Given the description of an element on the screen output the (x, y) to click on. 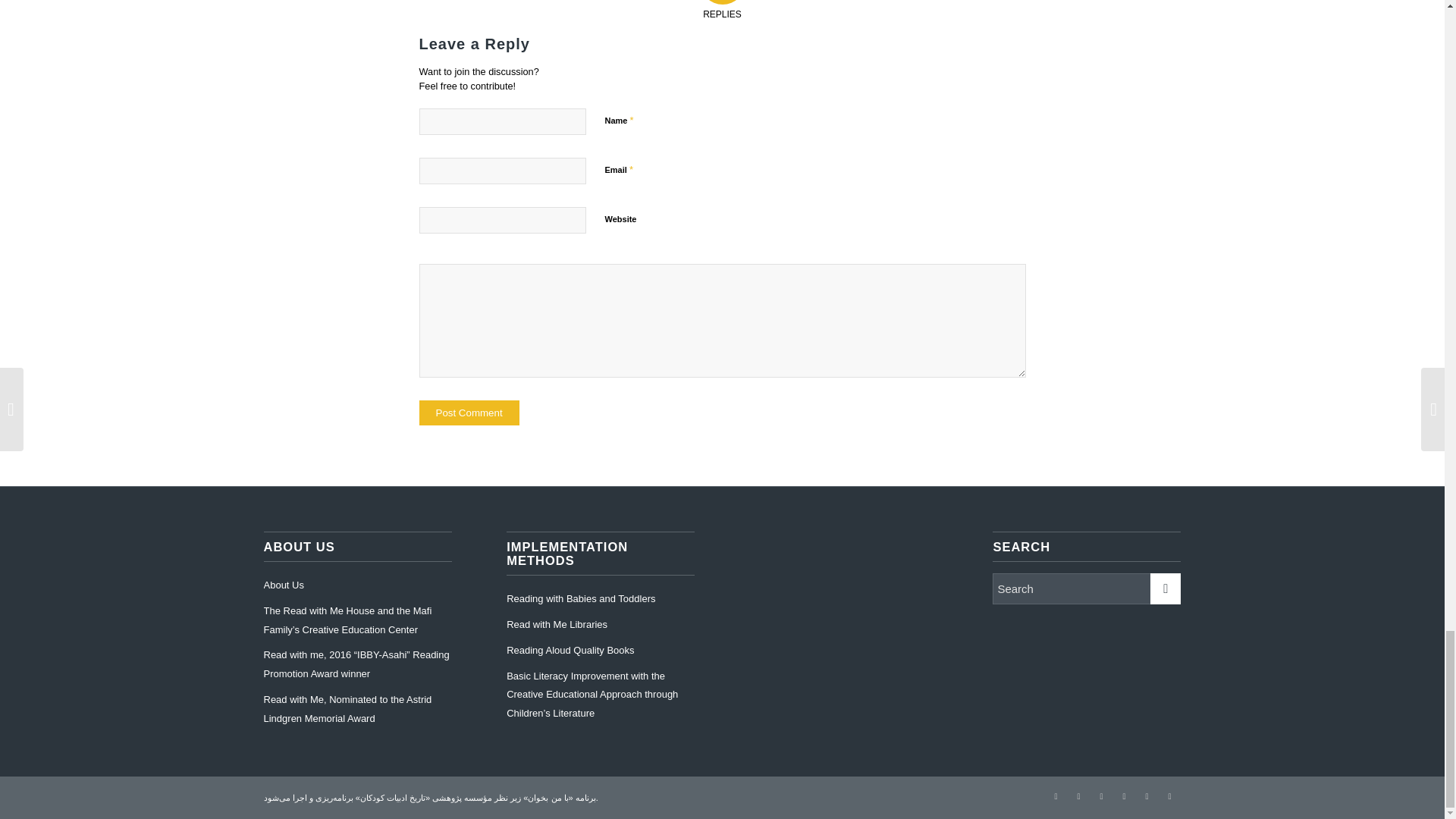
Post Comment (468, 412)
